Given the description of an element on the screen output the (x, y) to click on. 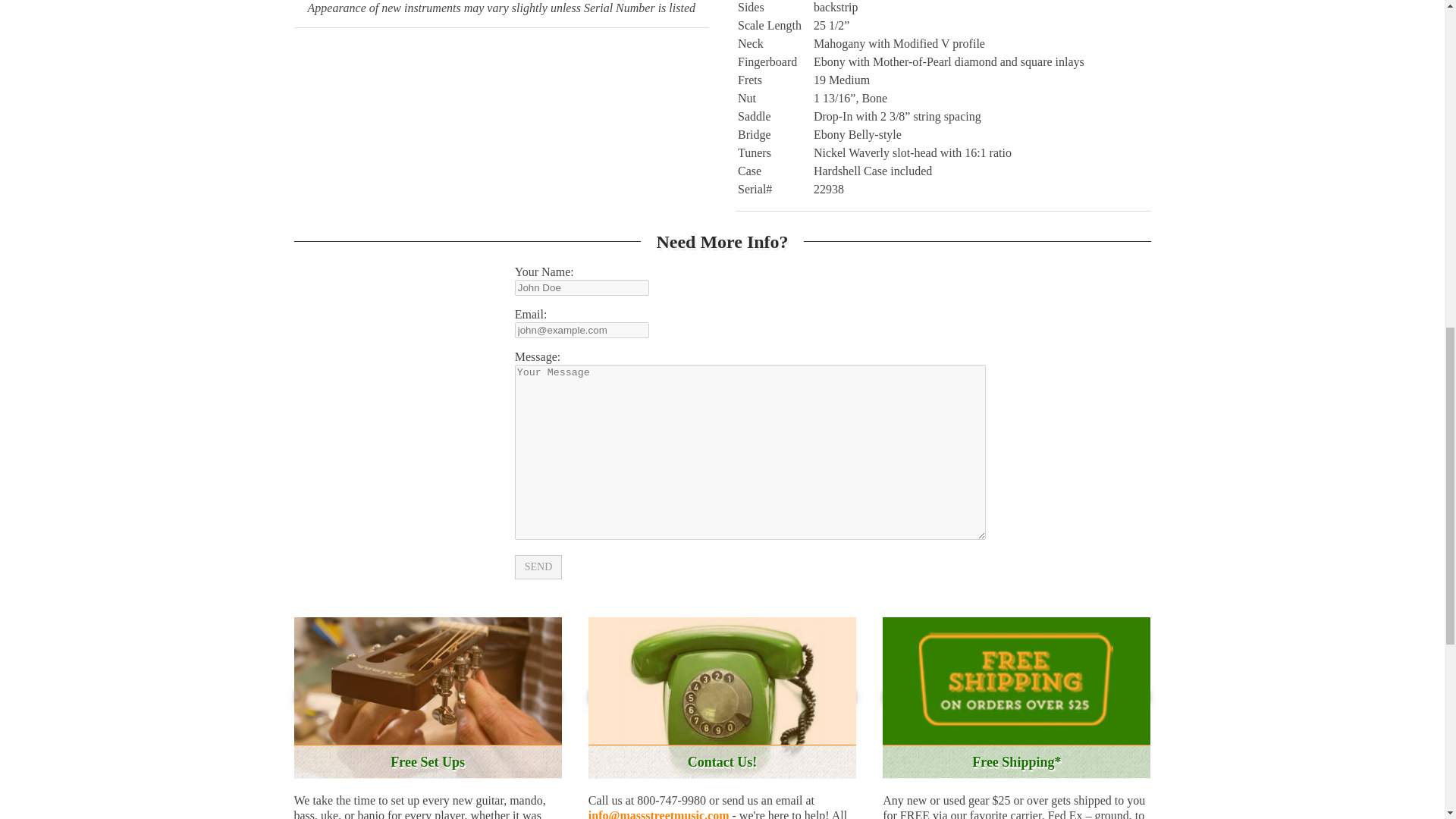
SEND (538, 567)
